Given the description of an element on the screen output the (x, y) to click on. 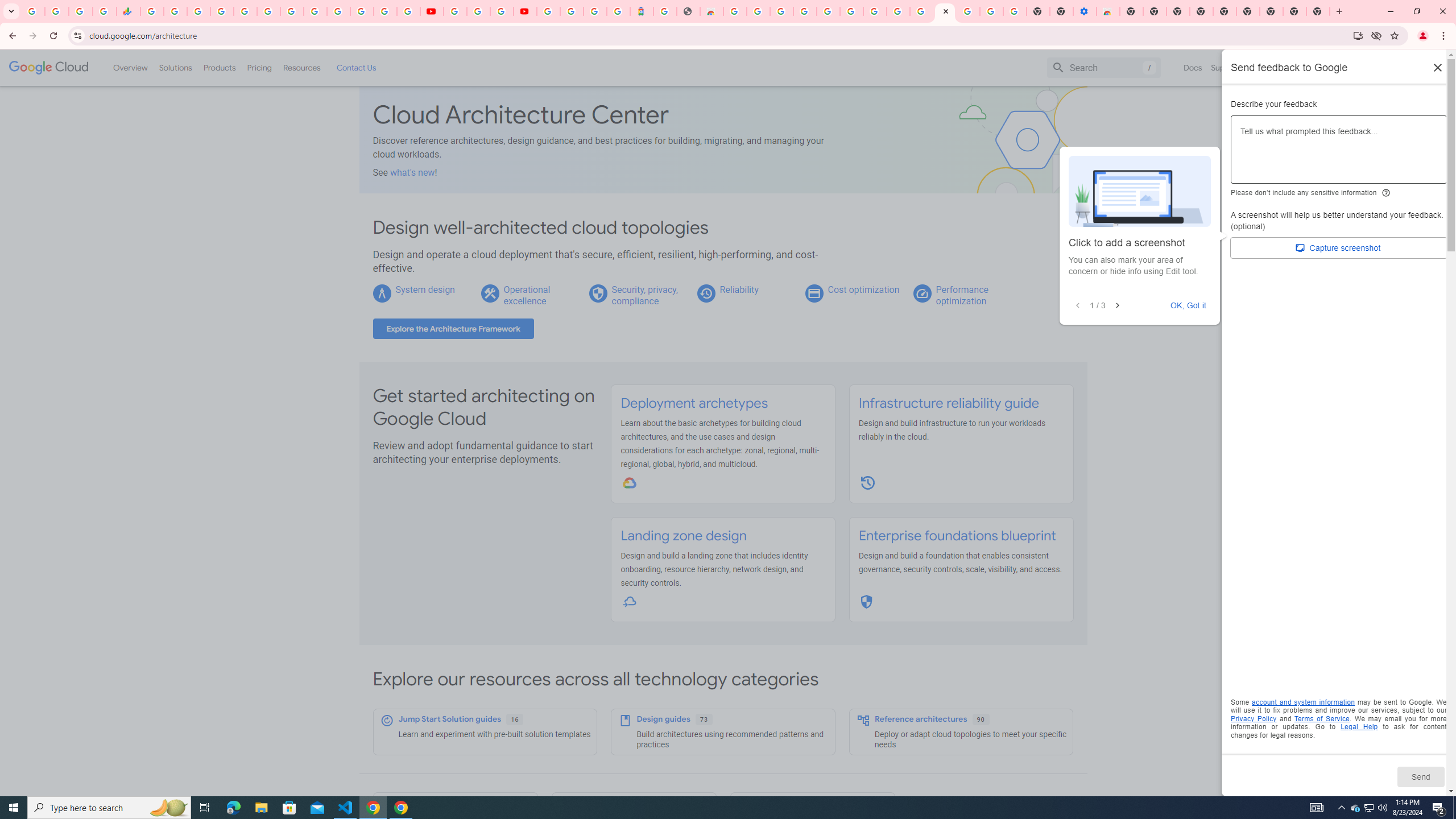
Security, privacy, compliance (644, 295)
Next (1117, 305)
New Tab (1271, 11)
Ad Settings (804, 11)
Google Cloud (48, 67)
Docs (1192, 67)
Overview (130, 67)
Privacy Checkup (408, 11)
